Given the description of an element on the screen output the (x, y) to click on. 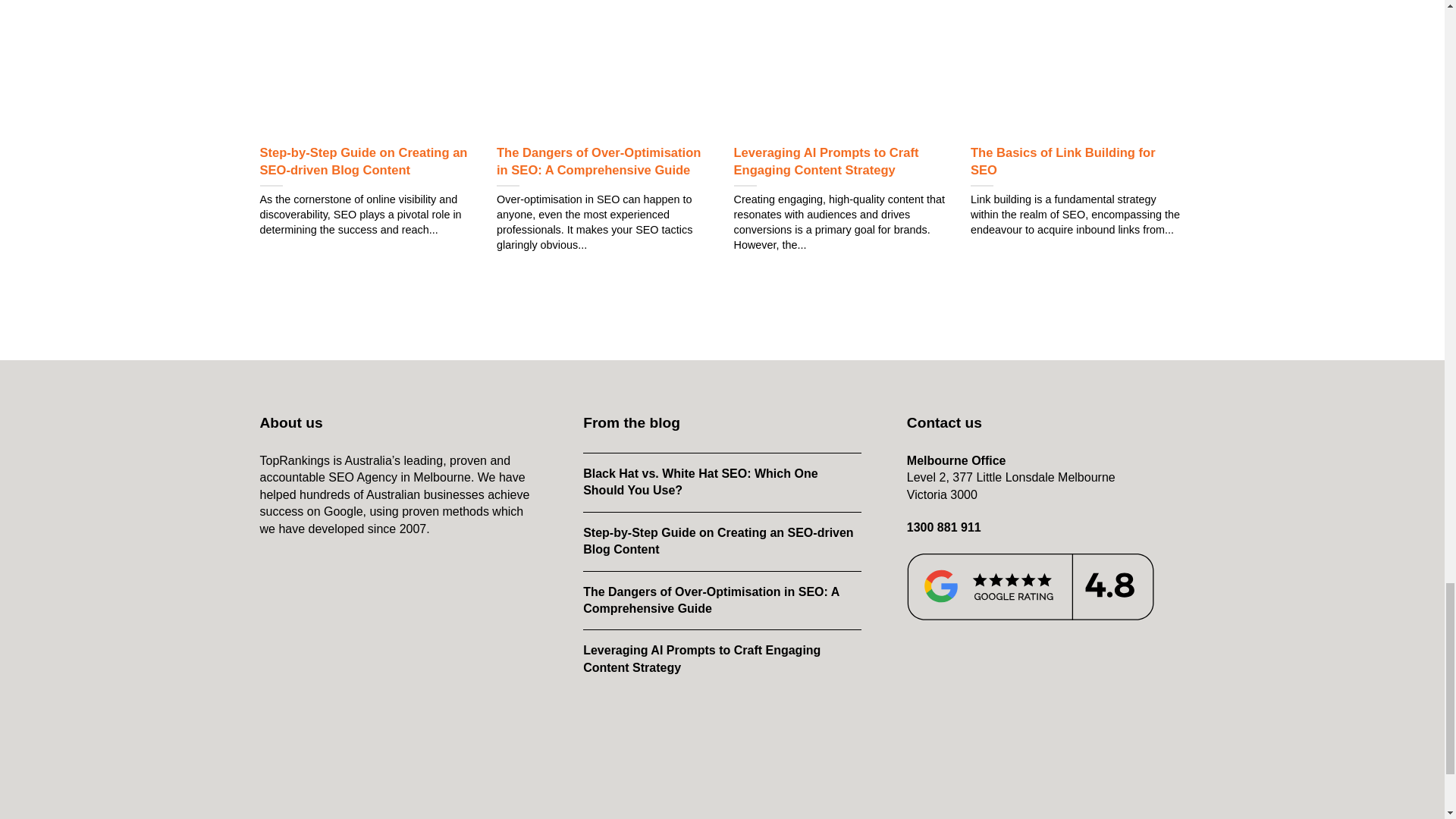
Black Hat vs. White Hat SEO: Which One Should You Use? (722, 482)
Step-by-Step Guide on Creating an SEO-driven Blog Content (722, 541)
